Given the description of an element on the screen output the (x, y) to click on. 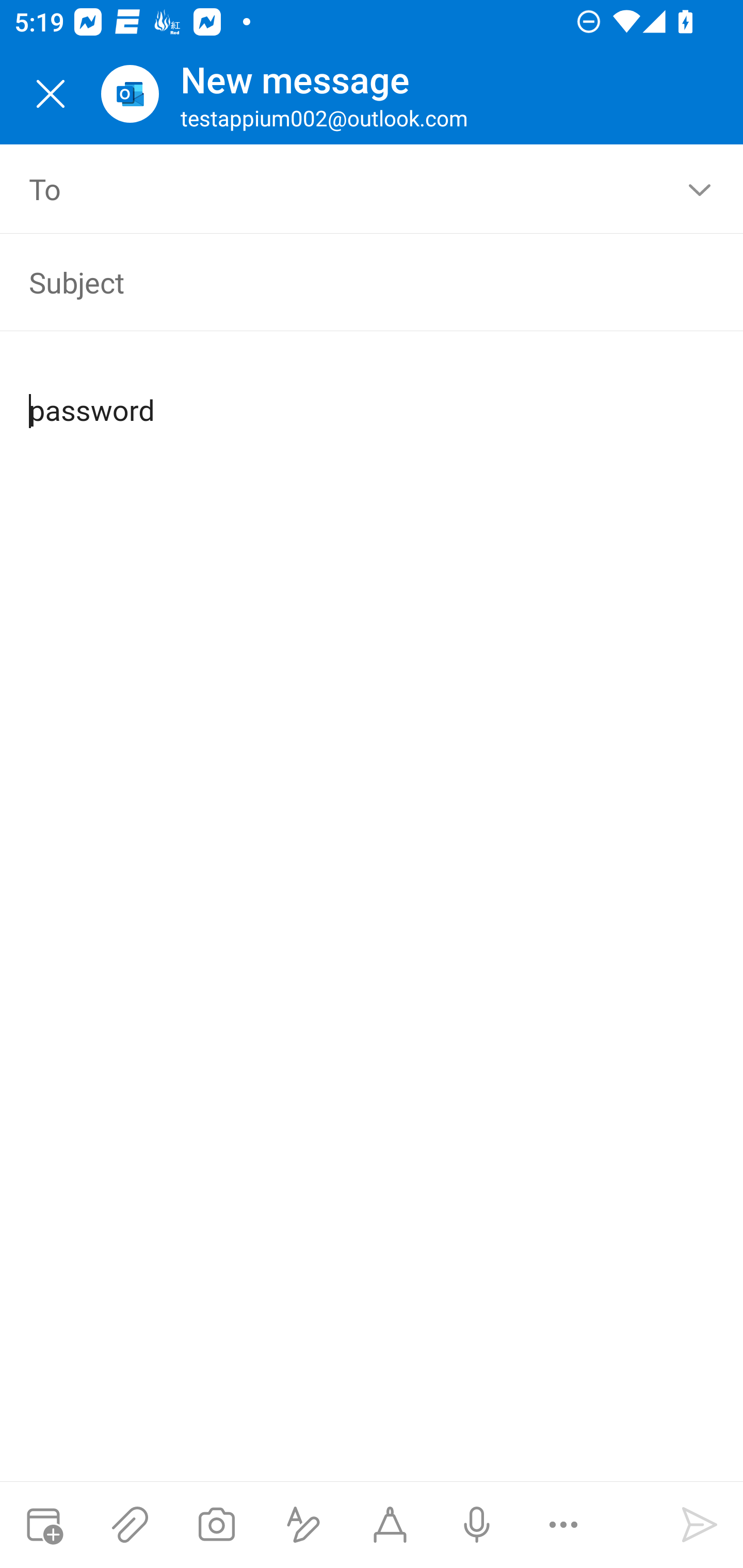
Close (50, 93)
Subject (342, 281)

password (372, 394)
Attach meeting (43, 1524)
Attach files (129, 1524)
Take a photo (216, 1524)
Show formatting options (303, 1524)
Start Ink compose (389, 1524)
Dictation (476, 1524)
More options (563, 1524)
Send (699, 1524)
